Given the description of an element on the screen output the (x, y) to click on. 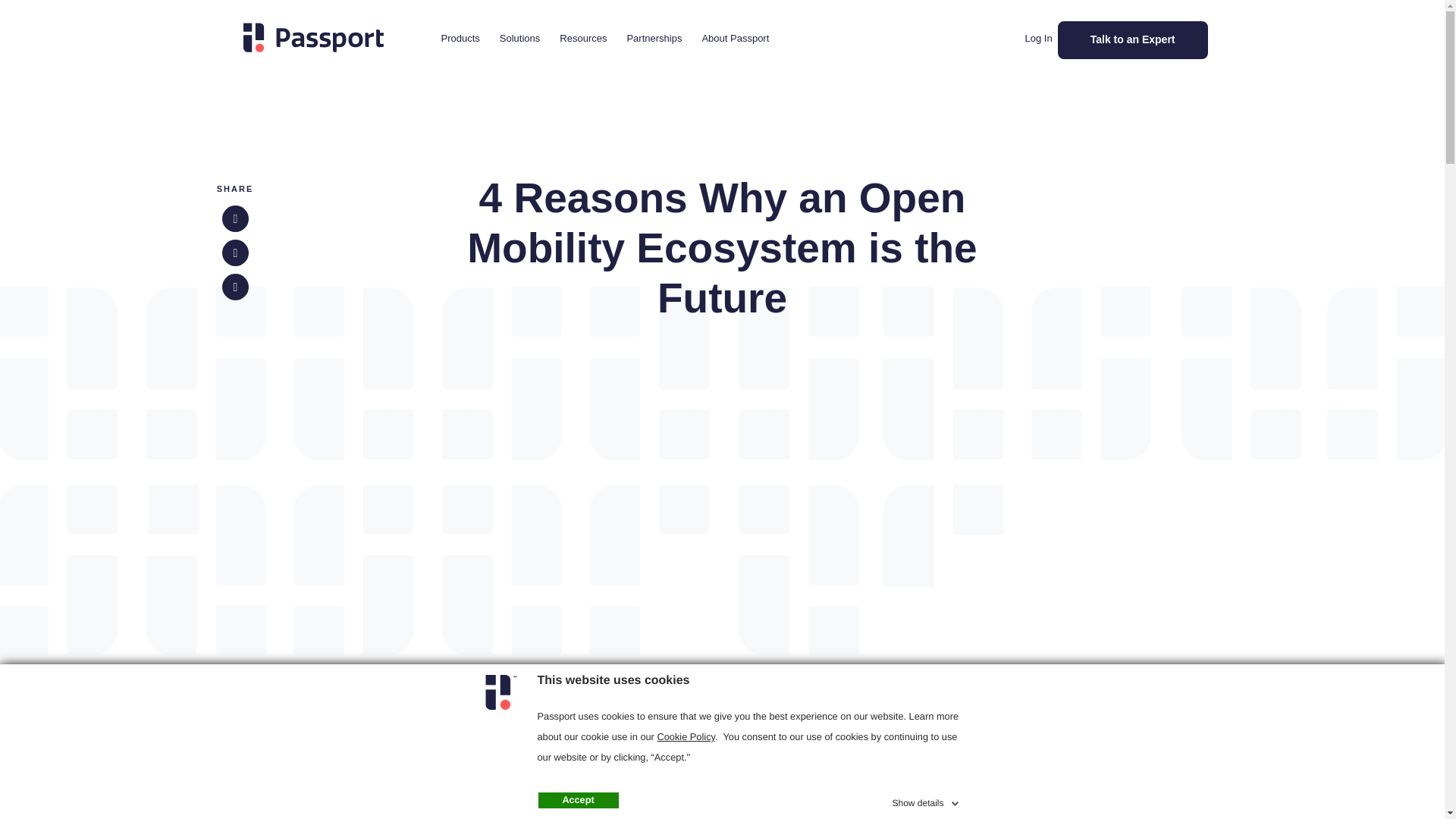
Accept (578, 800)
Cookie Policy (685, 736)
Show details (925, 800)
